Given the description of an element on the screen output the (x, y) to click on. 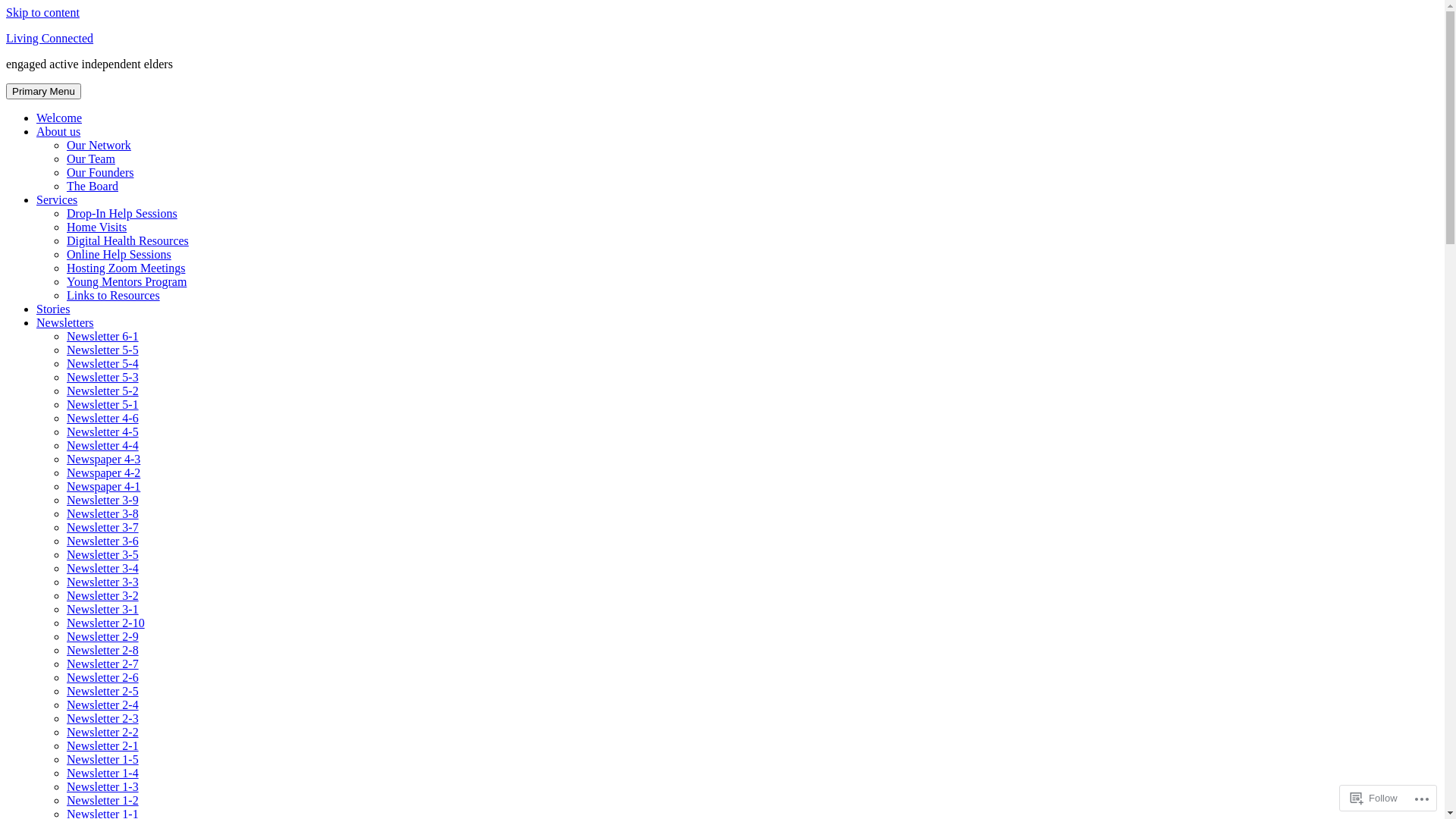
Online Help Sessions Element type: text (118, 253)
Our Network Element type: text (98, 144)
Follow Element type: text (1373, 797)
Skip to content Element type: text (42, 12)
Newsletter 2-1 Element type: text (102, 745)
Newsletter 1-2 Element type: text (102, 799)
Digital Health Resources Element type: text (127, 240)
Newsletter 3-1 Element type: text (102, 608)
Primary Menu Element type: text (43, 91)
Newsletter 3-9 Element type: text (102, 499)
Young Mentors Program Element type: text (126, 281)
Newsletter 2-4 Element type: text (102, 704)
Newsletter 2-7 Element type: text (102, 663)
Newsletter 3-5 Element type: text (102, 554)
Newsletter 2-9 Element type: text (102, 636)
Drop-In Help Sessions Element type: text (121, 213)
Newsletter 5-4 Element type: text (102, 363)
Newsletter 3-6 Element type: text (102, 540)
Newspaper 4-3 Element type: text (103, 458)
Services Element type: text (56, 199)
Newsletter 3-8 Element type: text (102, 513)
Home Visits Element type: text (96, 226)
Newsletter 2-5 Element type: text (102, 690)
Our Founders Element type: text (99, 172)
Newsletter 5-1 Element type: text (102, 404)
Newsletter 2-3 Element type: text (102, 718)
The Board Element type: text (92, 185)
Newsletters Element type: text (65, 322)
Newspaper 4-2 Element type: text (103, 472)
Newsletter 2-10 Element type: text (105, 622)
Newsletter 5-2 Element type: text (102, 390)
Newsletter 3-7 Element type: text (102, 526)
Newsletter 5-5 Element type: text (102, 349)
Newsletter 3-3 Element type: text (102, 581)
Newsletter 2-8 Element type: text (102, 649)
Welcome Element type: text (58, 117)
Newspaper 4-1 Element type: text (103, 486)
Newsletter 5-3 Element type: text (102, 376)
Living Connected Element type: text (49, 37)
Newsletter 1-5 Element type: text (102, 759)
Newsletter 4-6 Element type: text (102, 417)
Newsletter 1-4 Element type: text (102, 772)
Stories Element type: text (52, 308)
Newsletter 4-4 Element type: text (102, 445)
Our Team Element type: text (90, 158)
Newsletter 6-1 Element type: text (102, 335)
Newsletter 2-2 Element type: text (102, 731)
About us Element type: text (58, 131)
Newsletter 1-3 Element type: text (102, 786)
Newsletter 3-4 Element type: text (102, 567)
Newsletter 2-6 Element type: text (102, 677)
Newsletter 4-5 Element type: text (102, 431)
Hosting Zoom Meetings Element type: text (125, 267)
Links to Resources Element type: text (113, 294)
Newsletter 3-2 Element type: text (102, 595)
